Given the description of an element on the screen output the (x, y) to click on. 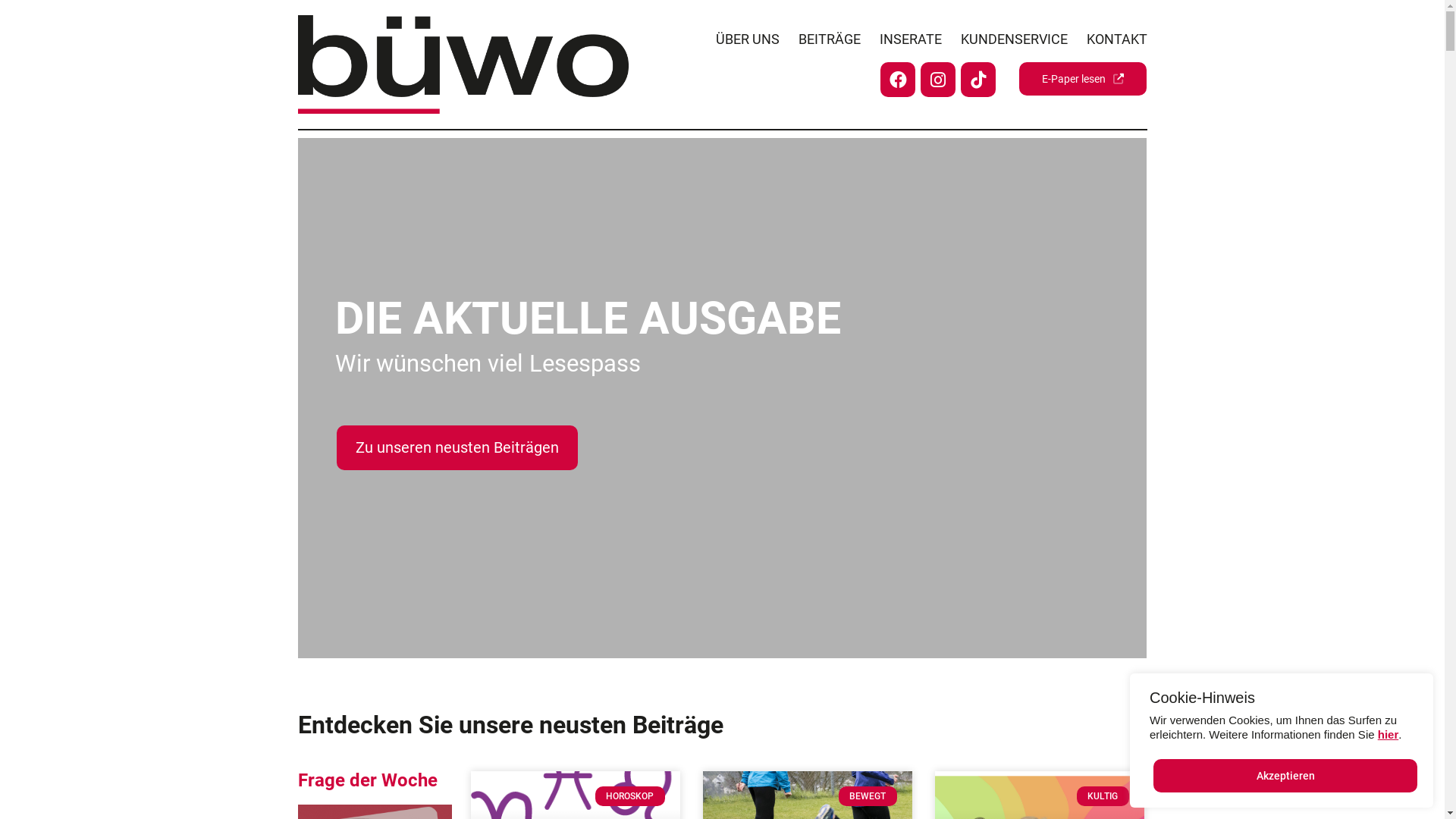
KUNDENSERVICE Element type: text (1004, 39)
E-Paper lesen Element type: text (1082, 78)
hier Element type: text (1388, 734)
INSERATE Element type: text (900, 39)
Akzeptieren Element type: text (1285, 775)
KONTAKT Element type: text (1107, 39)
